Given the description of an element on the screen output the (x, y) to click on. 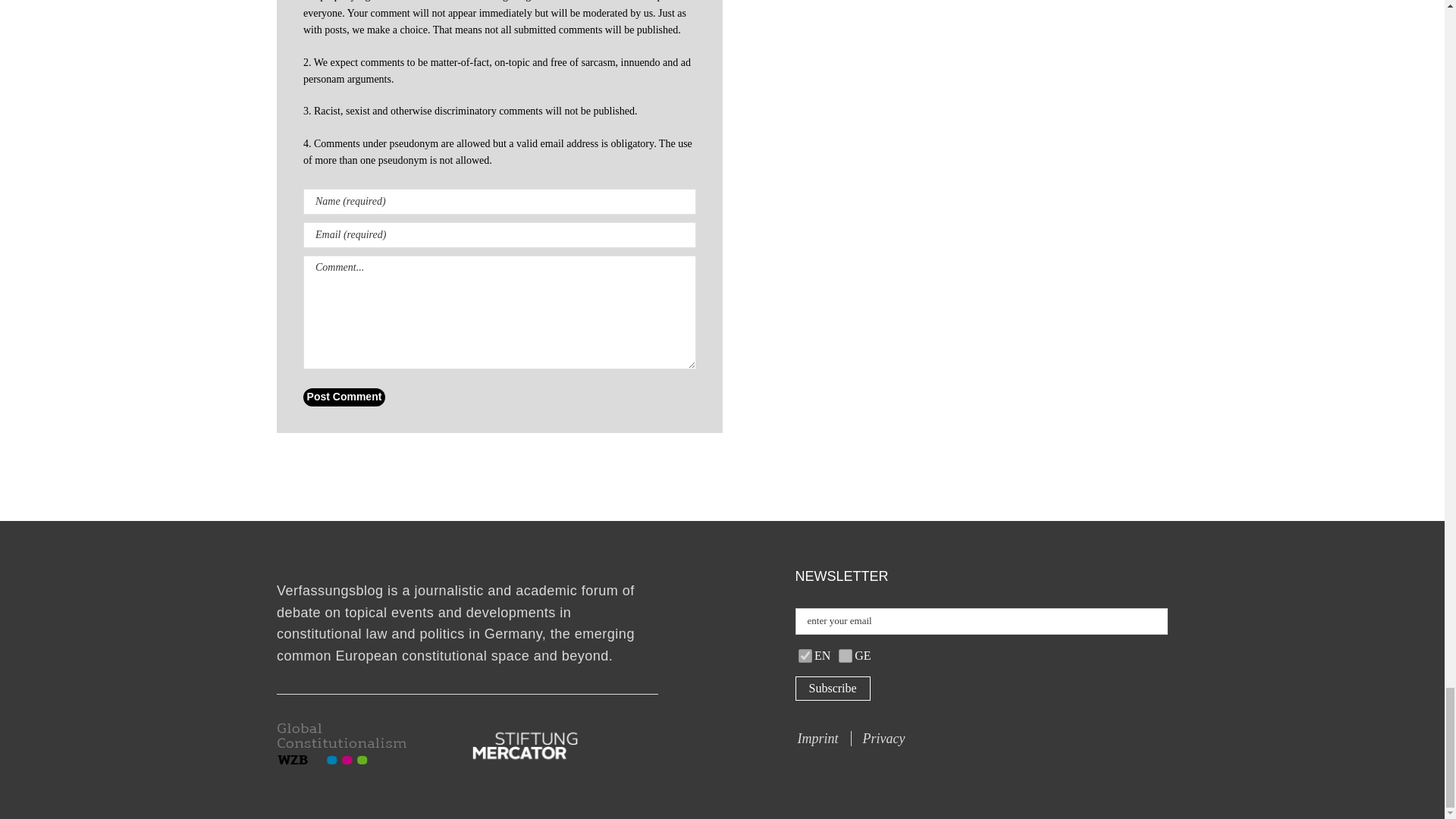
Subscribe (831, 688)
Post Comment (343, 397)
2 (804, 655)
1 (844, 655)
